Given the description of an element on the screen output the (x, y) to click on. 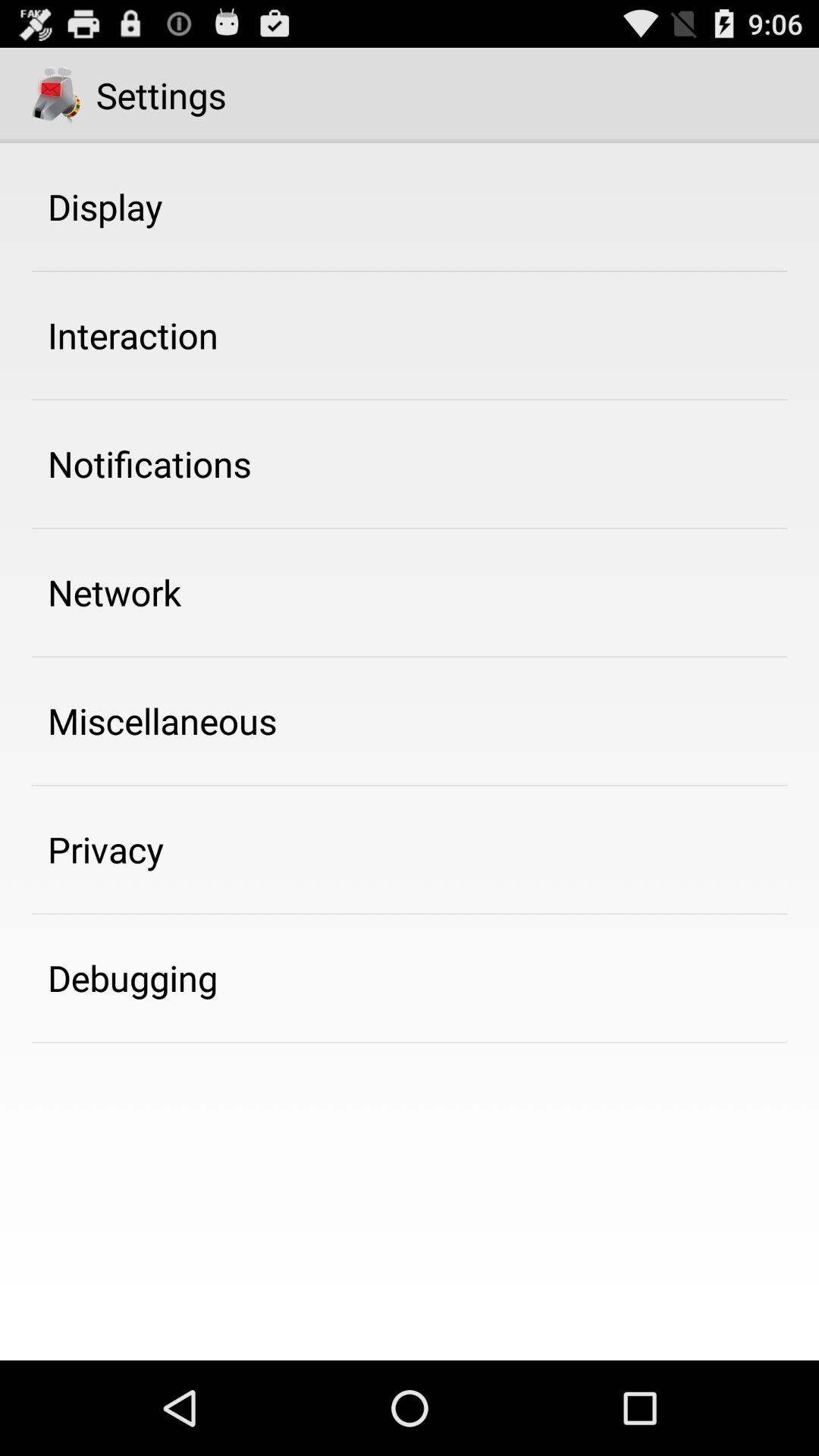
select the debugging item (132, 977)
